Given the description of an element on the screen output the (x, y) to click on. 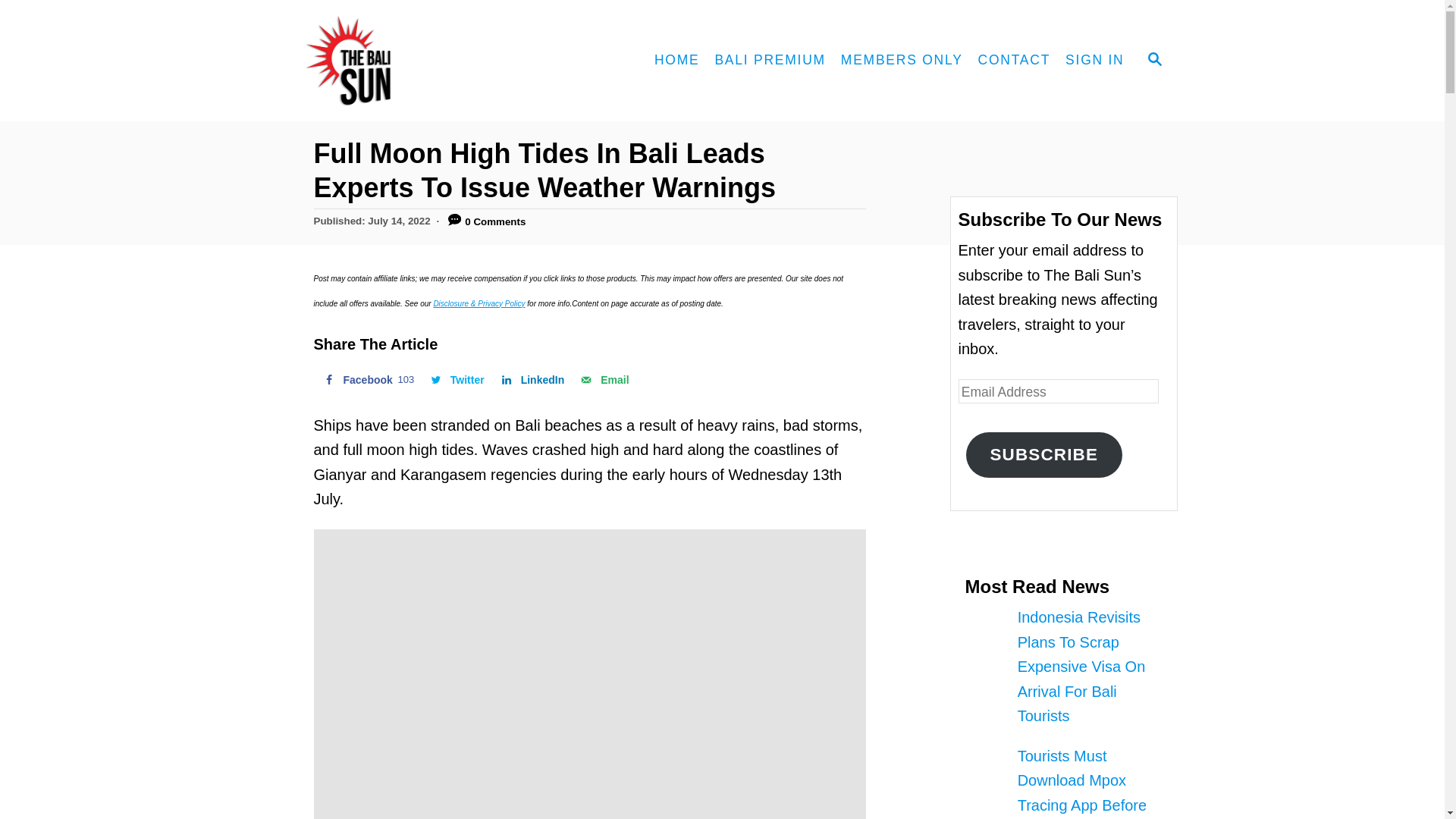
The Bali Sun (403, 60)
Send over email (367, 379)
Share on Twitter (602, 379)
Share on Facebook (456, 379)
Twitter (367, 379)
SEARCH (456, 379)
